Given the description of an element on the screen output the (x, y) to click on. 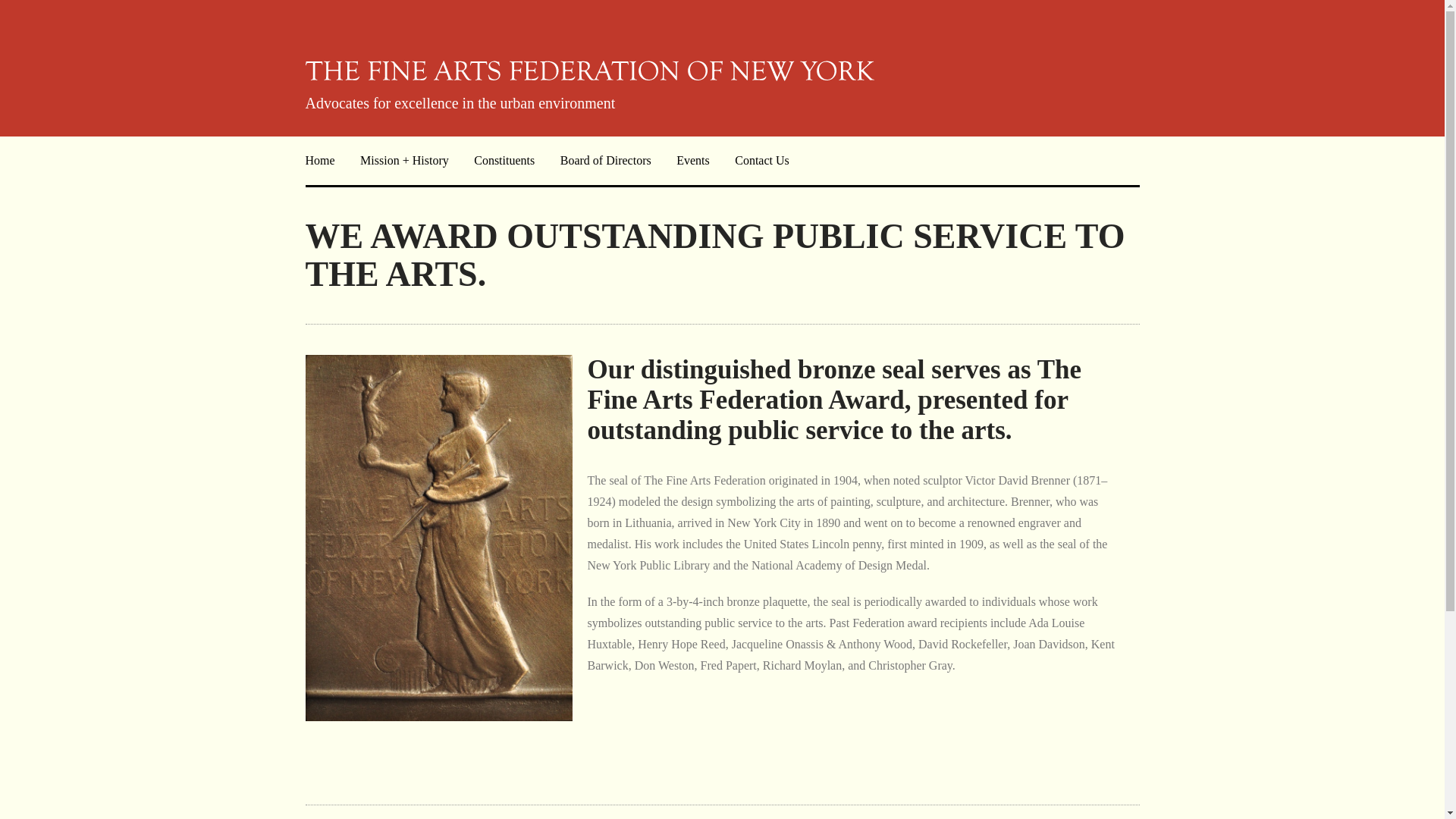
Contact Us (762, 160)
Constituents (504, 160)
Board of Directors (605, 160)
